Given the description of an element on the screen output the (x, y) to click on. 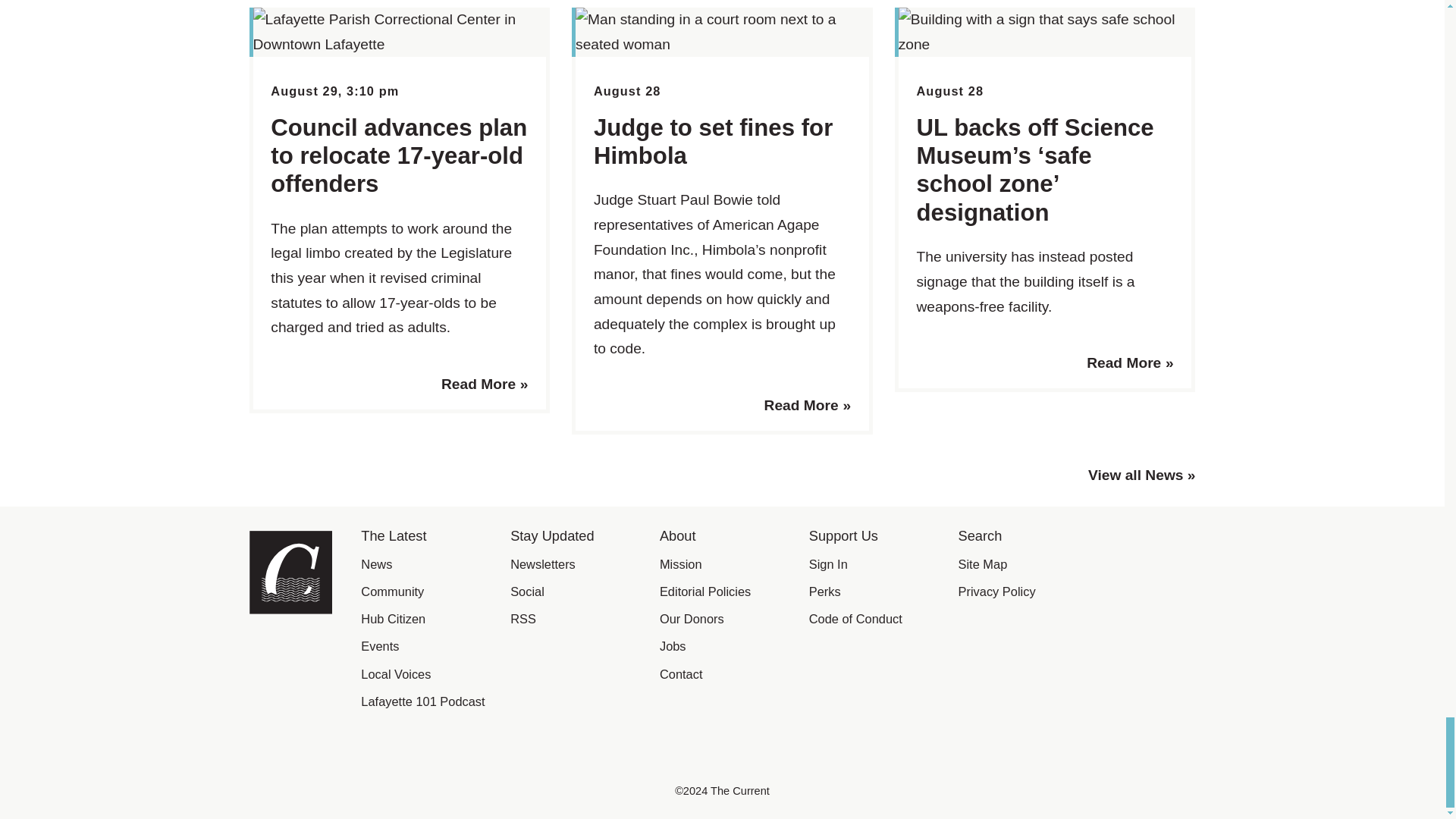
The Current (289, 609)
Published August 29, 2024 at 3:10 pm (334, 90)
Published August 28, 2024 at 2:13 pm (949, 90)
Council advances plan to relocate 17-year-old offenders (398, 155)
Published August 28, 2024 at 5:29 pm (627, 90)
Judge to set fines for Himbola (713, 140)
